Given the description of an element on the screen output the (x, y) to click on. 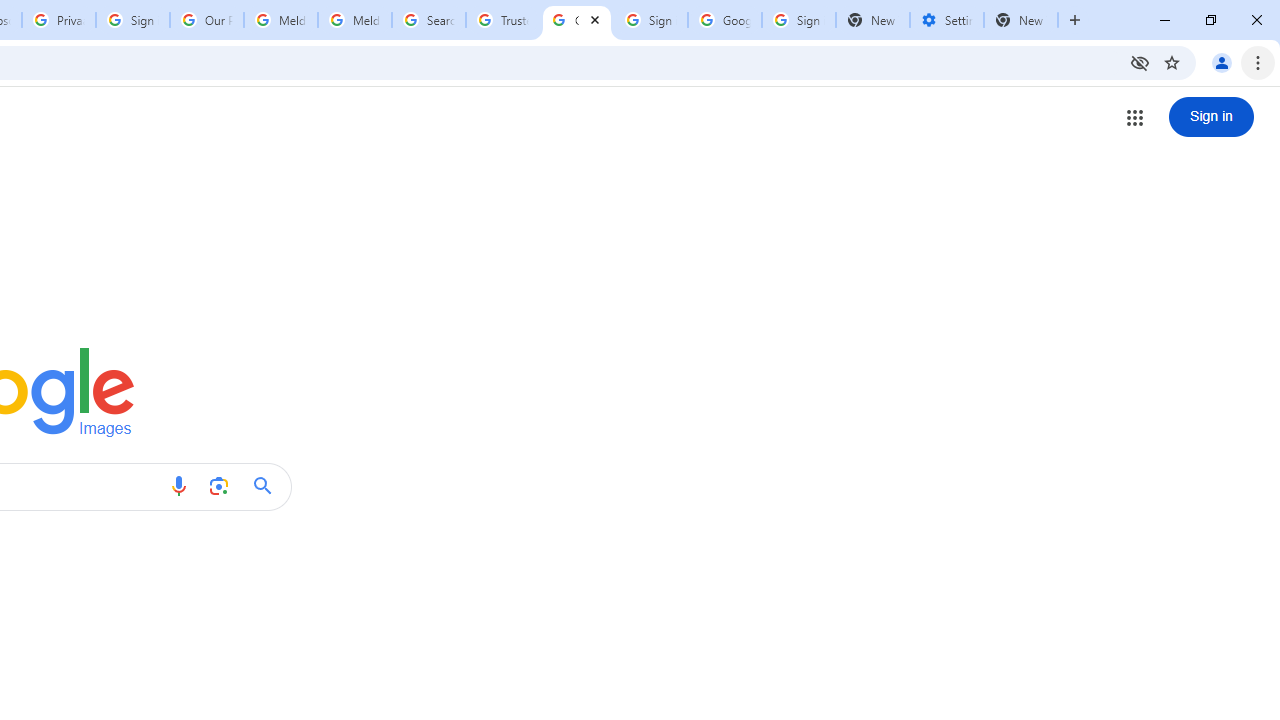
New Tab (1021, 20)
Sign in (1211, 116)
Google Cybersecurity Innovations - Google Safety Center (724, 20)
Bookmark this tab (1171, 62)
Trusted Information and Content - Google Safety Center (502, 20)
Restore (1210, 20)
Close (595, 19)
Google Search (268, 485)
Google apps (1134, 117)
Third-party cookies blocked (1139, 62)
Search by image (218, 485)
Minimize (1165, 20)
